Given the description of an element on the screen output the (x, y) to click on. 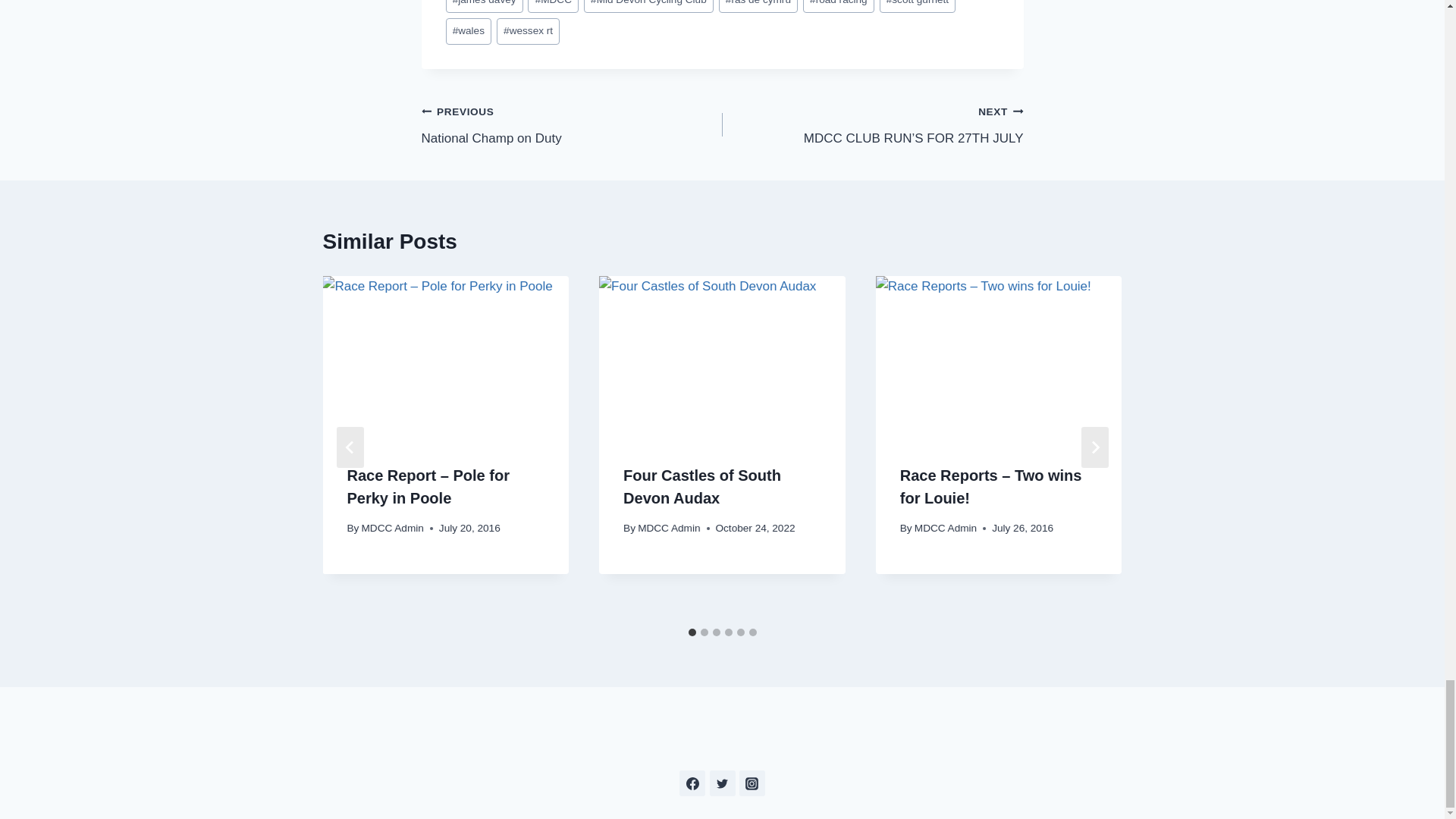
MDCC (552, 6)
scott gurnett (917, 6)
Mid Devon Cycling Club (648, 6)
road racing (839, 6)
wales (468, 31)
ras de cymru (758, 6)
james davey (483, 6)
wessex rt (527, 31)
